Given the description of an element on the screen output the (x, y) to click on. 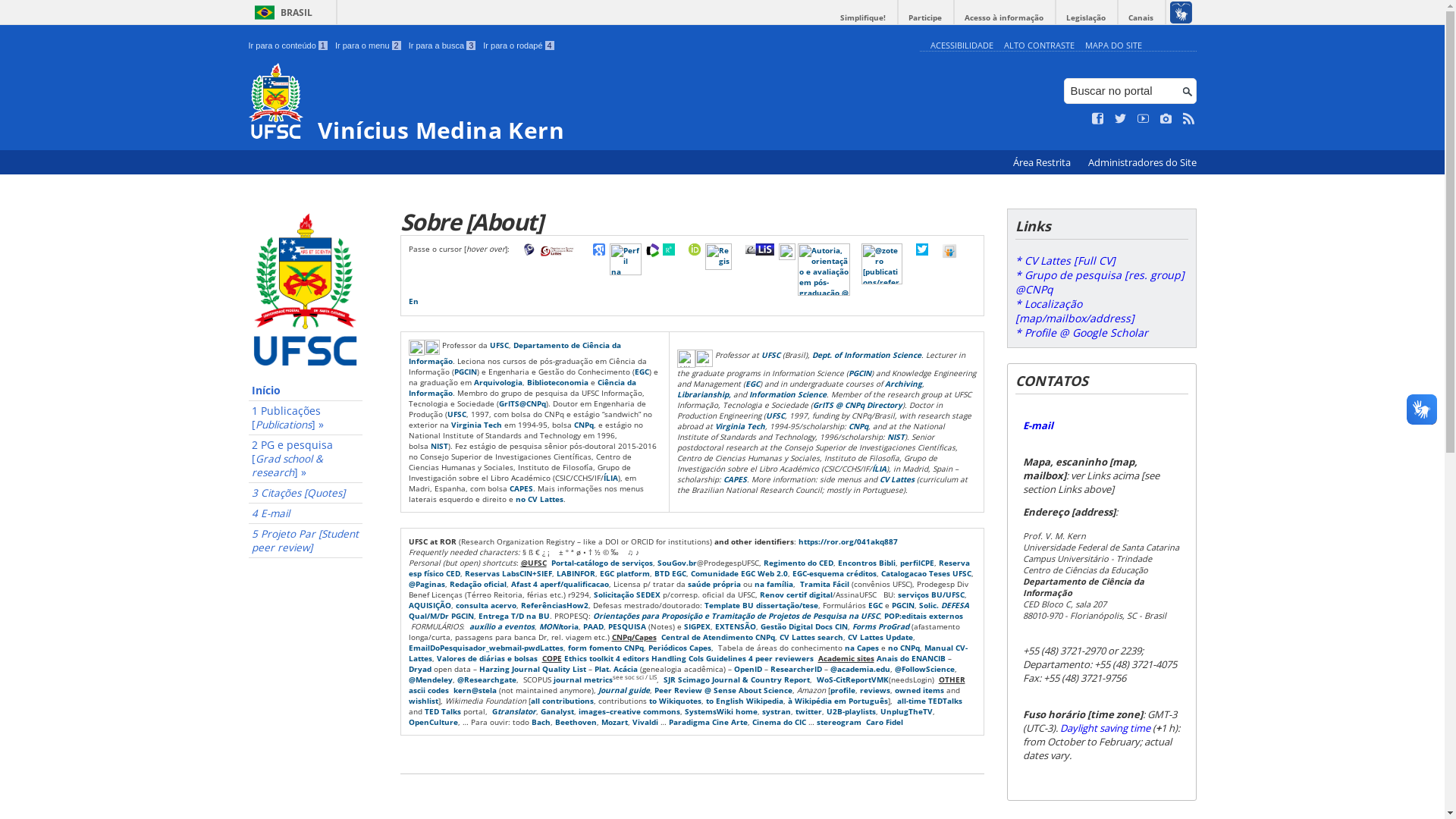
PGCIN Element type: text (902, 604)
perfilCPE Element type: text (916, 562)
EGC Element type: text (751, 382)
Participe Element type: text (924, 18)
WoS-CitReportVMK Element type: text (851, 679)
Dryad Element type: text (418, 668)
Perfil na Web of Science [WoS profile] Element type: hover (653, 250)
Afast 4 aperf/qualificacao Element type: text (559, 583)
all contributions Element type: text (561, 700)
PESQUISA Element type: text (627, 626)
twitter Element type: text (807, 711)
EmailDoPesquisador_webmail-pwdLattes Element type: text (484, 647)
Veja no Instagram Element type: hover (1166, 118)
Peer Review @ Sense About Science Element type: text (722, 689)
CAPES Element type: text (734, 478)
Curta no Facebook Element type: hover (1098, 118)
Gtranslator Element type: text (513, 711)
GrITS@CNPq Element type: text (522, 403)
CV Lattes Update Element type: text (880, 636)
Renov certif digital Element type: text (795, 594)
ALTO CONTRASTE Element type: text (1039, 44)
Ir para a busca 3 Element type: text (442, 45)
CV Lattes search Element type: text (811, 636)
PGCIN Element type: text (858, 372)
SouGov.br Element type: text (676, 562)
to Wikiquotes Element type: text (675, 700)
Guidelines 4 peer reviewers Element type: text (758, 657)
Entrega T/D na BU Element type: text (513, 615)
no CV Lattes Element type: text (539, 498)
na Capes Element type: text (861, 647)
Forms ProGrad Element type: text (880, 626)
EGC Element type: text (640, 371)
Mozart Element type: text (613, 721)
systran Element type: text (775, 711)
BRASIL Element type: text (280, 12)
CAPES Element type: text (521, 488)
Beethoven Element type: text (575, 721)
EGC Element type: text (874, 604)
CV Lattes Element type: text (896, 478)
4 E-mail Element type: text (305, 513)
Sobre [About] Element type: text (692, 221)
Siga no Twitter Element type: hover (1120, 118)
Biblioteconomia Element type: text (556, 381)
Virginia Tech Element type: text (475, 424)
CNPq Element type: text (857, 425)
SystemsWiki home Element type: text (720, 711)
reviews Element type: text (874, 689)
UnplugTheTV Element type: text (905, 711)
GrITS @ CNPq Directory Element type: text (857, 403)
OpenID Element type: text (748, 668)
PAAD Element type: text (592, 626)
Central de Atendimento CNPq Element type: text (718, 636)
TED Talks Element type: text (442, 711)
@Researchgate Element type: text (485, 679)
Harzing Journal Quality List Element type: text (532, 668)
CNPq Element type: text (583, 424)
Caro Fidel Element type: text (884, 721)
UFSC Element type: text (770, 353)
Ir para o menu 2 Element type: text (368, 45)
LABINFOR Element type: text (575, 572)
UFSC Element type: text (774, 414)
MONItoria Element type: text (557, 626)
ascii codes Element type: text (427, 689)
NIST Element type: text (895, 435)
5 Projeto Par [Student peer review] Element type: text (305, 541)
https://ror.org/041akq887 Element type: text (847, 541)
Virginia Tech Element type: text (739, 425)
Ethics toolkit 4 editors Element type: text (606, 657)
* CV Lattes [Full CV] Element type: text (1064, 260)
Dept. of Information Science Element type: text (865, 353)
Ganalyst Element type: text (556, 711)
Archiving Element type: text (902, 382)
Bach Element type: text (539, 721)
Reservas LabsCIN+SIEF Element type: text (507, 572)
U2B-playlists Element type: text (850, 711)
stereogram Element type: text (837, 721)
OpenCulture Element type: text (432, 721)
Encontros Bibli Element type: text (865, 562)
Vivaldi Element type: text (645, 721)
PGCIN Element type: text (464, 371)
@zotero [publications/reference management] Element type: hover (881, 263)
profile Element type: text (841, 689)
@Paginas Element type: text (425, 583)
BTD EGC Element type: text (669, 572)
* Grupo de pesquisa [res. group] @CNPq Element type: text (1098, 281)
Librarianship, Element type: text (703, 393)
Daylight saving time Element type: text (1105, 727)
SJR Scimago Journal & Country Report Element type: text (735, 679)
Administradores do Site Element type: text (1141, 162)
journal metrics Element type: text (582, 679)
Manual CV-Lattes Element type: text (686, 652)
Catalogacao Teses UFSC Element type: text (926, 572)
NIST Element type: text (439, 445)
owned items Element type: text (919, 689)
@Mendeley Element type: text (429, 679)
ACESSIBILIDADE Element type: text (960, 44)
consulta acervo Element type: text (485, 604)
E-mail Element type: text (1037, 425)
Comunidade EGC Web 2.0 Element type: text (738, 572)
form fomento CNPq Element type: text (605, 647)
@FollowScience Element type: text (924, 668)
MAPA DO SITE Element type: text (1112, 44)
Cinema do CIC Element type: text (779, 721)
kern@stela Element type: text (474, 689)
UFSC Element type: text (498, 344)
POP:editais externos Element type: text (923, 615)
wishlist Element type: text (422, 700)
Journal guide Element type: text (623, 689)
Paradigma Cine Arte Element type: text (707, 721)
* Profile @ Google Scholar Element type: text (1080, 332)
@academia.edu Element type: text (859, 668)
Canais Element type: text (1140, 18)
Regimento do CED Element type: text (797, 562)
SIGPEX Element type: text (697, 626)
Arquivologia Element type: text (497, 381)
no CNPq Element type: text (903, 647)
Anais do ENANCIB Element type: text (910, 657)
to English Wikipedia Element type: text (743, 700)
all-time TEDTalks Element type: text (928, 700)
Enviar mensagem [Send e-mail] Element type: hover (413, 301)
Perfil na base de dados Scopus [Scopus author profile] Element type: hover (625, 259)
UFSC Element type: text (456, 413)
Information Science Element type: text (787, 393)
Solic. DEFESA Qual/M/Dr PGCIN Element type: text (687, 610)
Twitter @vmkern Element type: hover (922, 249)
Simplifique! Element type: text (862, 18)
Handling CoIs Element type: text (676, 657)
EGC platform Element type: text (624, 572)
ResearcherID Element type: text (796, 668)
